Given the description of an element on the screen output the (x, y) to click on. 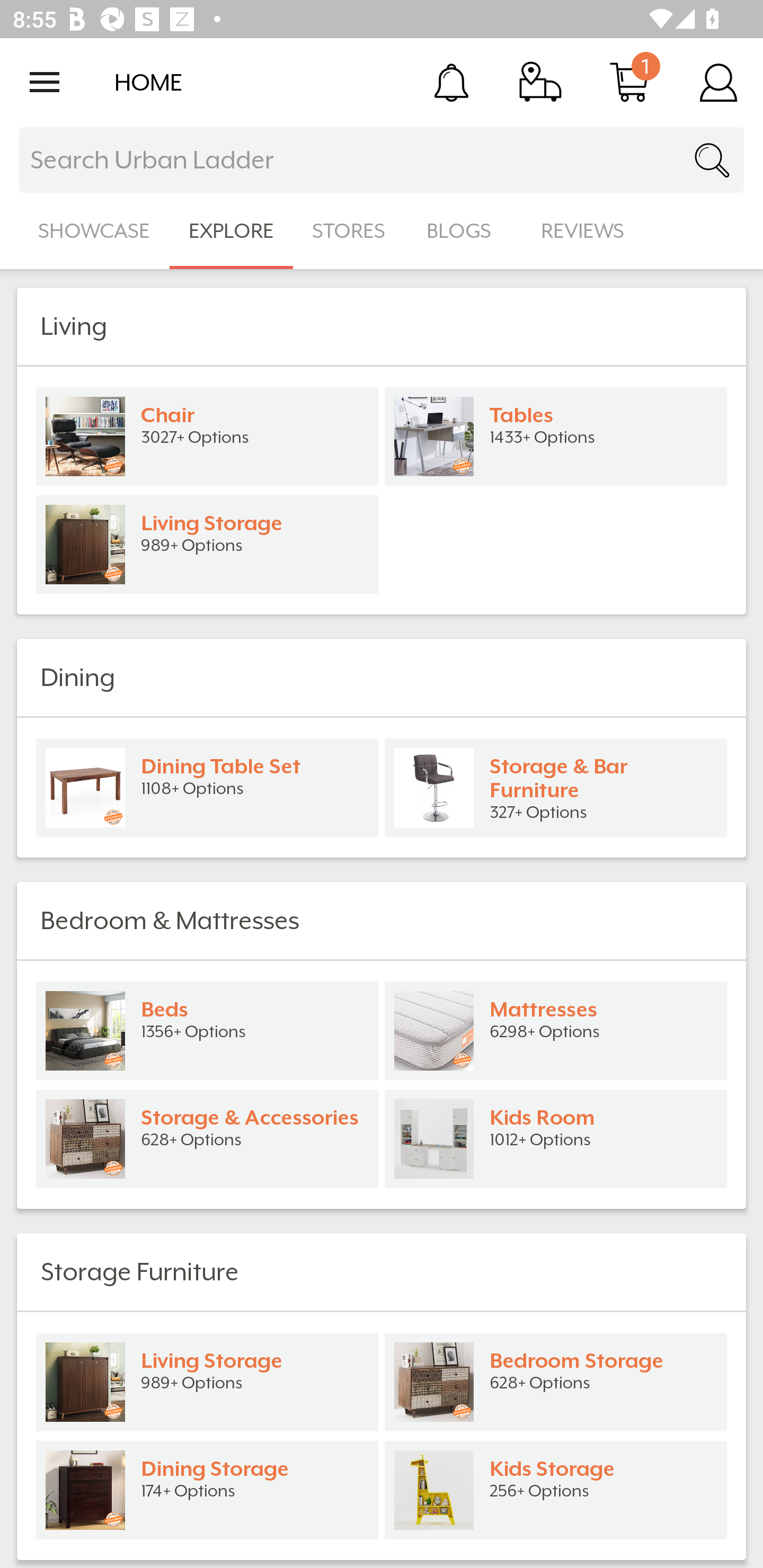
Open navigation drawer (44, 82)
Notification (450, 81)
Track Order (540, 81)
Cart (629, 81)
Account Details (718, 81)
Search Urban Ladder  (381, 159)
SHOWCASE (94, 230)
EXPLORE (230, 230)
STORES (349, 230)
BLOGS (464, 230)
REVIEWS (582, 230)
Chair 3027+ Options (206, 436)
Tables 1433+ Options (555, 436)
Living Storage 989+ Options (206, 544)
Dining Table Set 1108+ Options (206, 787)
Storage & Bar Furniture 327+ Options (555, 787)
Beds 1356+ Options (206, 1030)
Mattresses 6298+ Options (555, 1030)
Storage & Accessories 628+ Options (206, 1139)
Kids Room 1012+ Options (555, 1139)
Living Storage 989+ Options (206, 1382)
Bedroom Storage 628+ Options (555, 1382)
Dining Storage 174+ Options (206, 1490)
Kids Storage 256+ Options (555, 1490)
